Given the description of an element on the screen output the (x, y) to click on. 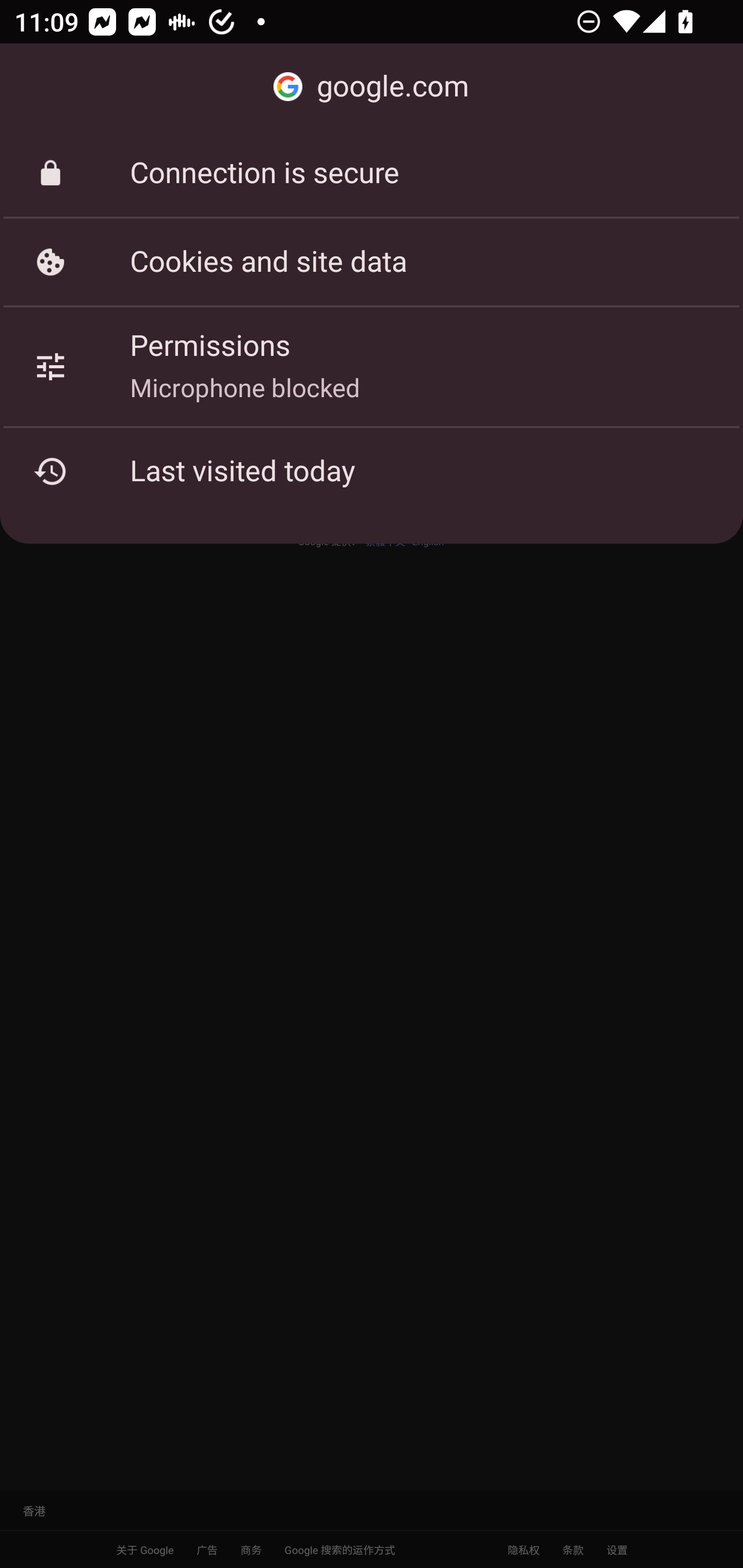
google.com (371, 86)
Connection is secure (371, 173)
Cookies and site data (371, 261)
Permissions Microphone blocked (371, 366)
Last visited today (371, 471)
